Given the description of an element on the screen output the (x, y) to click on. 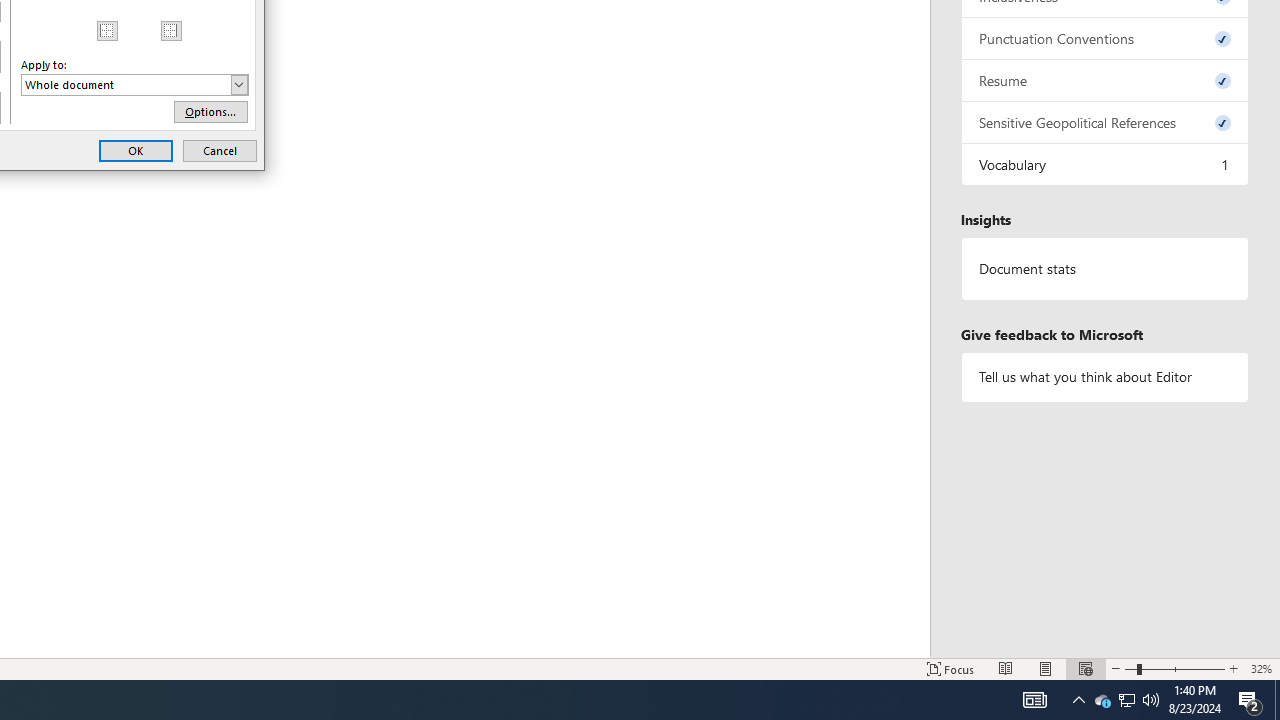
Zoom 32% (1261, 668)
AutomationID: 4105 (1102, 699)
OK (1034, 699)
Right Border (136, 150)
Apply to: (171, 30)
Document statistics (134, 84)
MSO Generic Control Container (1105, 269)
Action Center, 2 new notifications (107, 30)
